Given the description of an element on the screen output the (x, y) to click on. 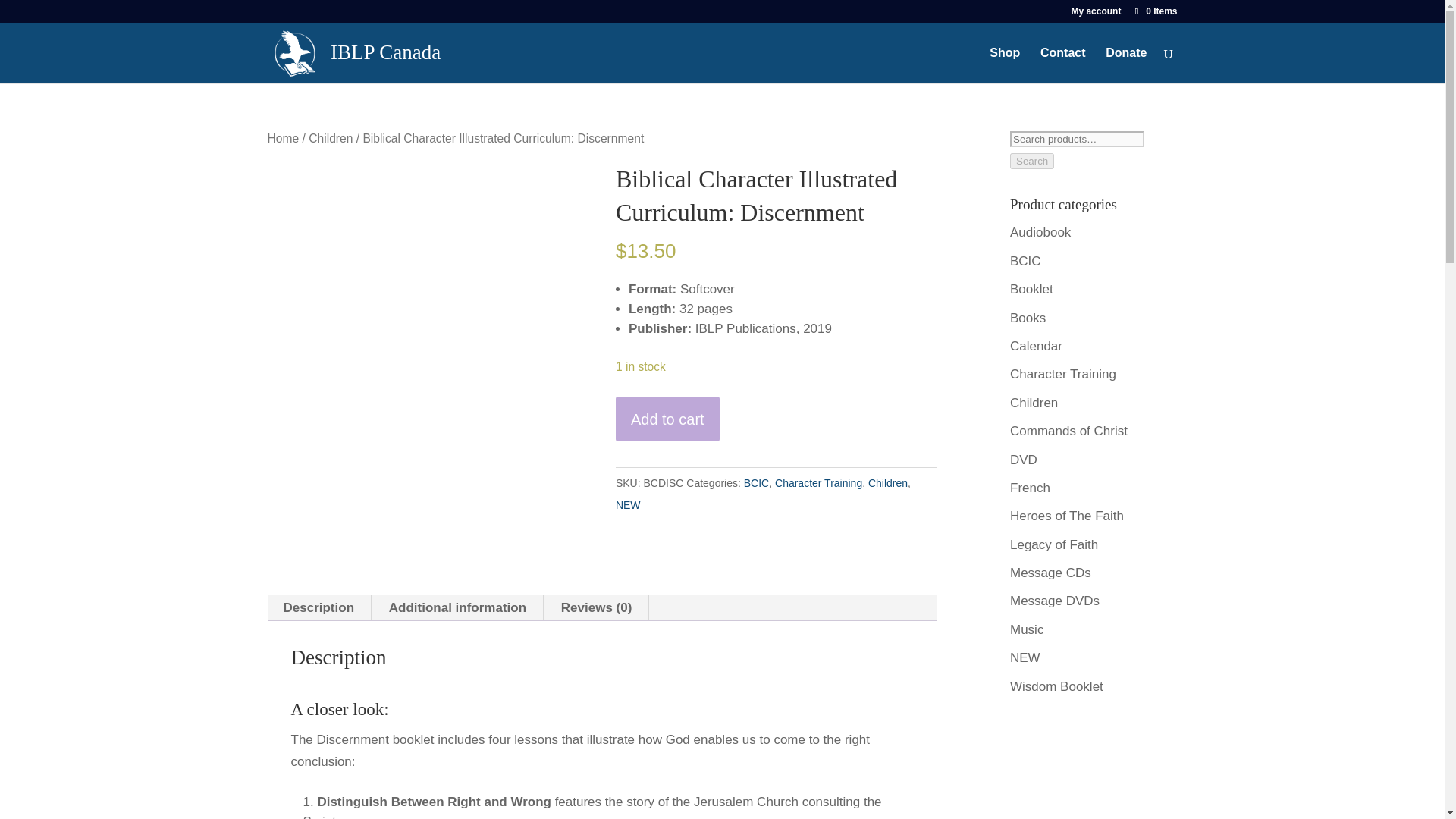
BCIC (756, 482)
Books (1027, 318)
My account (1095, 14)
Heroes of The Faith (1067, 515)
Home (282, 137)
Add to cart (667, 418)
Character Training (817, 482)
DVD (1023, 459)
Description (318, 606)
Legacy of Faith (1053, 544)
